Given the description of an element on the screen output the (x, y) to click on. 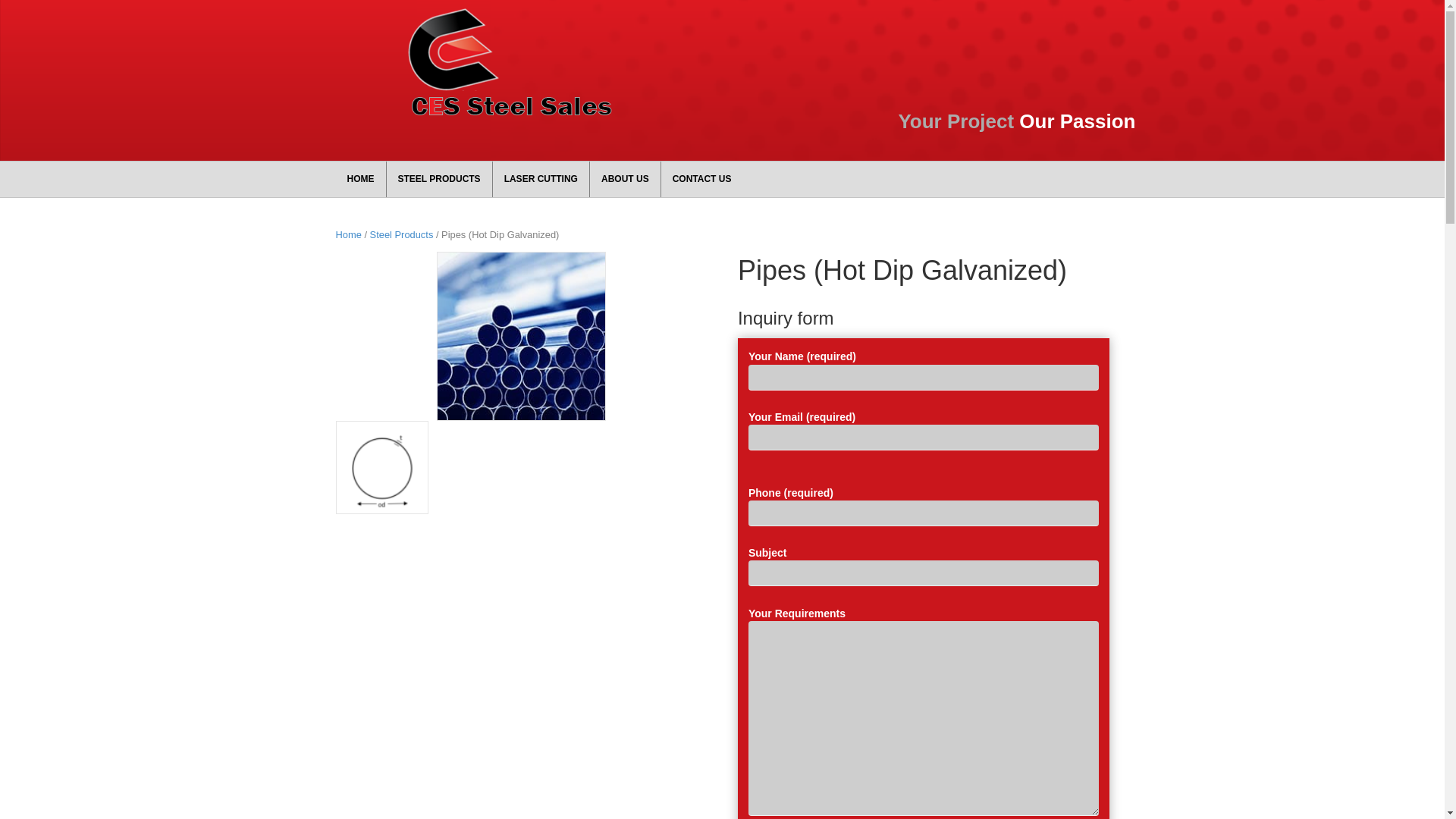
ABOUT US Element type: text (624, 179)
LASER CUTTING Element type: text (540, 179)
Steel Pipes Element type: hover (520, 335)
HOME Element type: text (360, 179)
CONTACT US Element type: text (702, 179)
Steel Products Element type: text (401, 234)
STEEL PRODUCTS Element type: text (439, 179)
Pipe ERW Gal Fence Pipe Element type: hover (381, 466)
Home Element type: text (347, 234)
